Given the description of an element on the screen output the (x, y) to click on. 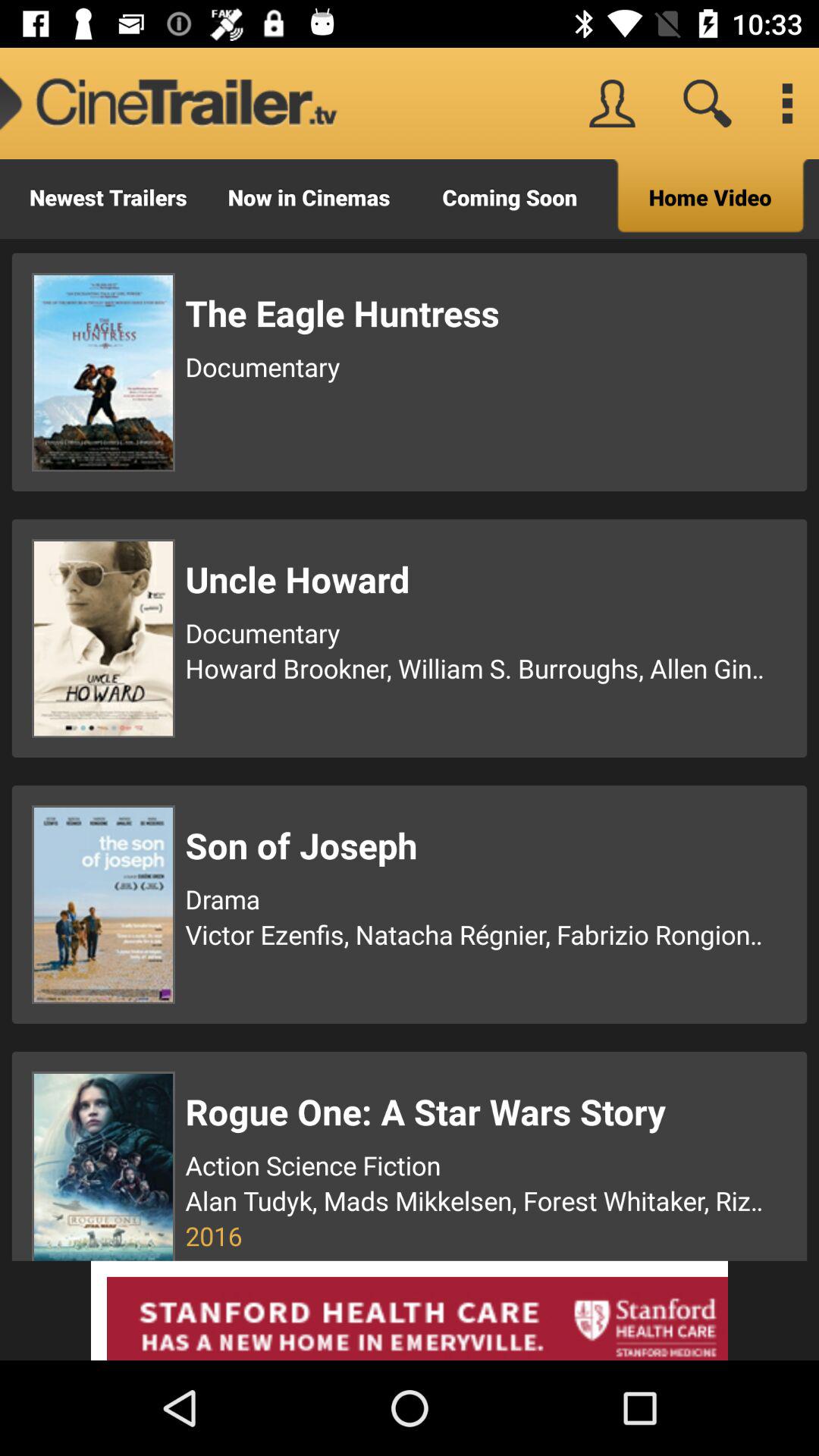
click on options (787, 103)
